Given the description of an element on the screen output the (x, y) to click on. 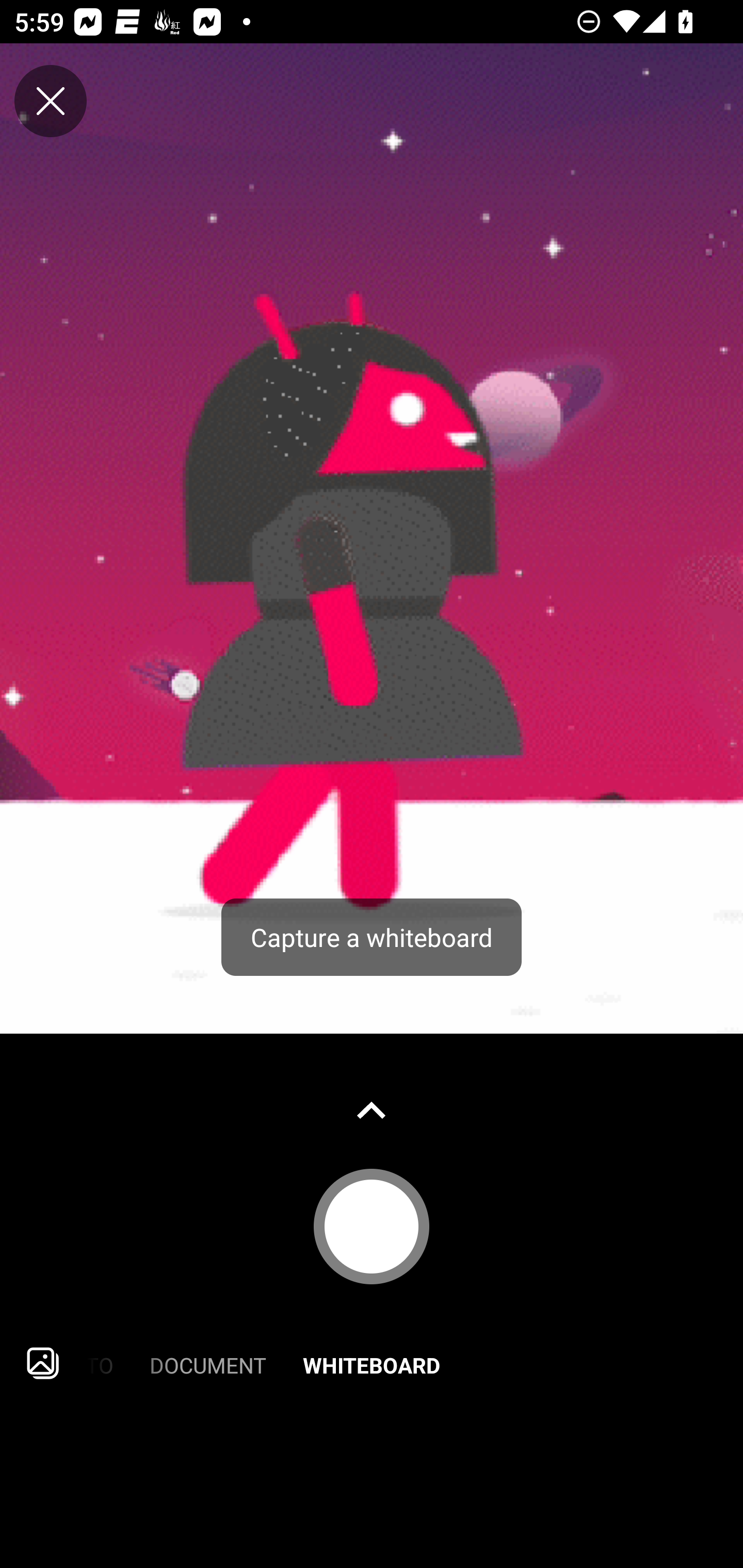
Close (50, 101)
Show gallery (371, 1110)
Capture (371, 1226)
Import (43, 1363)
DOCUMENT (207, 1362)
WHITEBOARD (371, 1362)
